Given the description of an element on the screen output the (x, y) to click on. 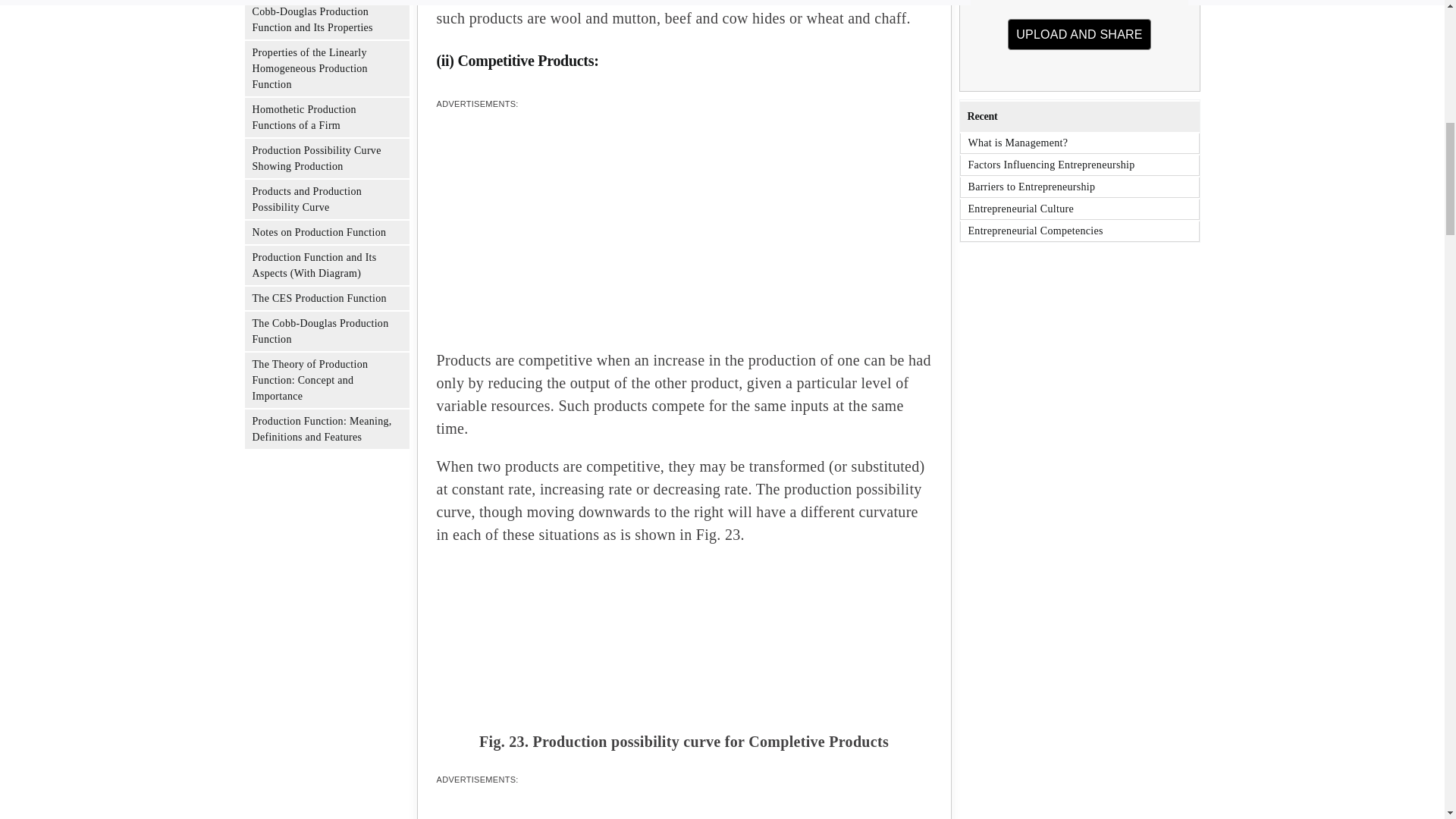
Properties of the Linearly Homogeneous Production Function (308, 68)
Commodity Y1 and Y2 (1080, 38)
Cobb-Douglas Production Function and Its Properties (683, 637)
